Given the description of an element on the screen output the (x, y) to click on. 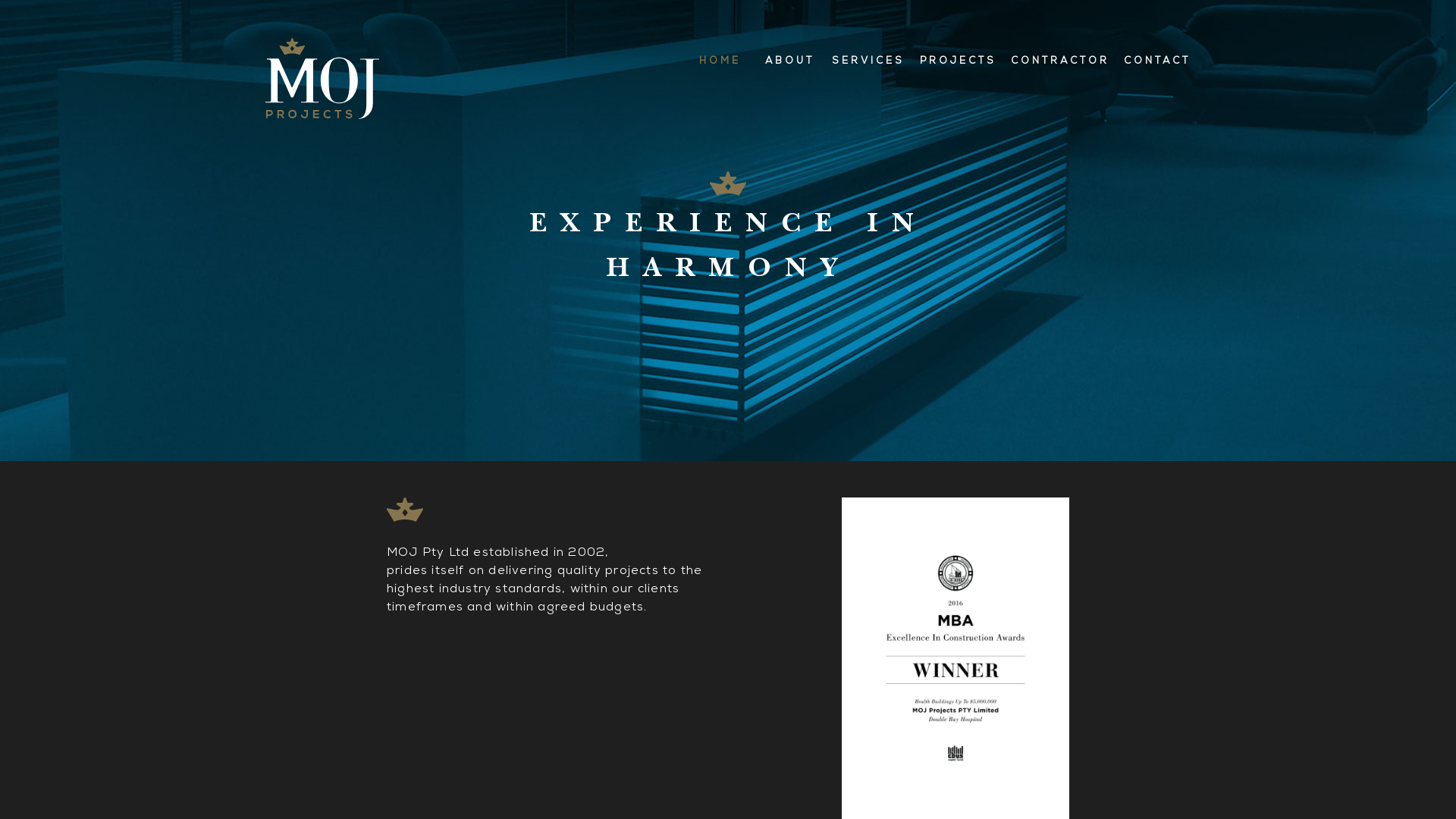
CONTRACTOR Element type: text (1059, 61)
ABOUT Element type: text (790, 61)
SERVICES Element type: text (868, 61)
PROJECTS Element type: text (957, 61)
HOME Element type: text (720, 61)
CONTACT Element type: text (1153, 61)
